Given the description of an element on the screen output the (x, y) to click on. 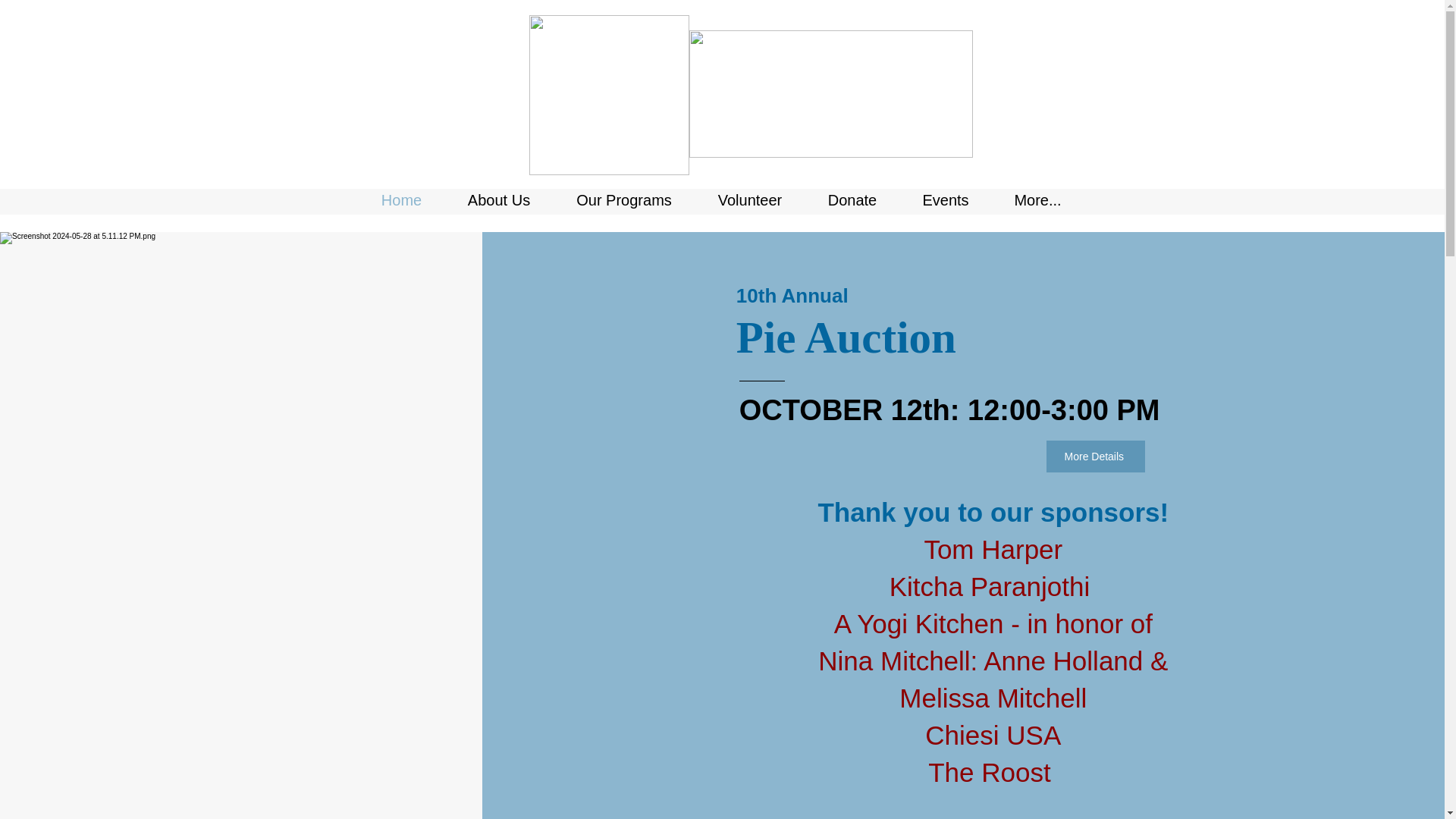
More Details (1095, 456)
Home (401, 200)
About Us (498, 200)
Donate (852, 200)
Volunteer (749, 200)
Our Programs (624, 200)
Events (945, 200)
